Given the description of an element on the screen output the (x, y) to click on. 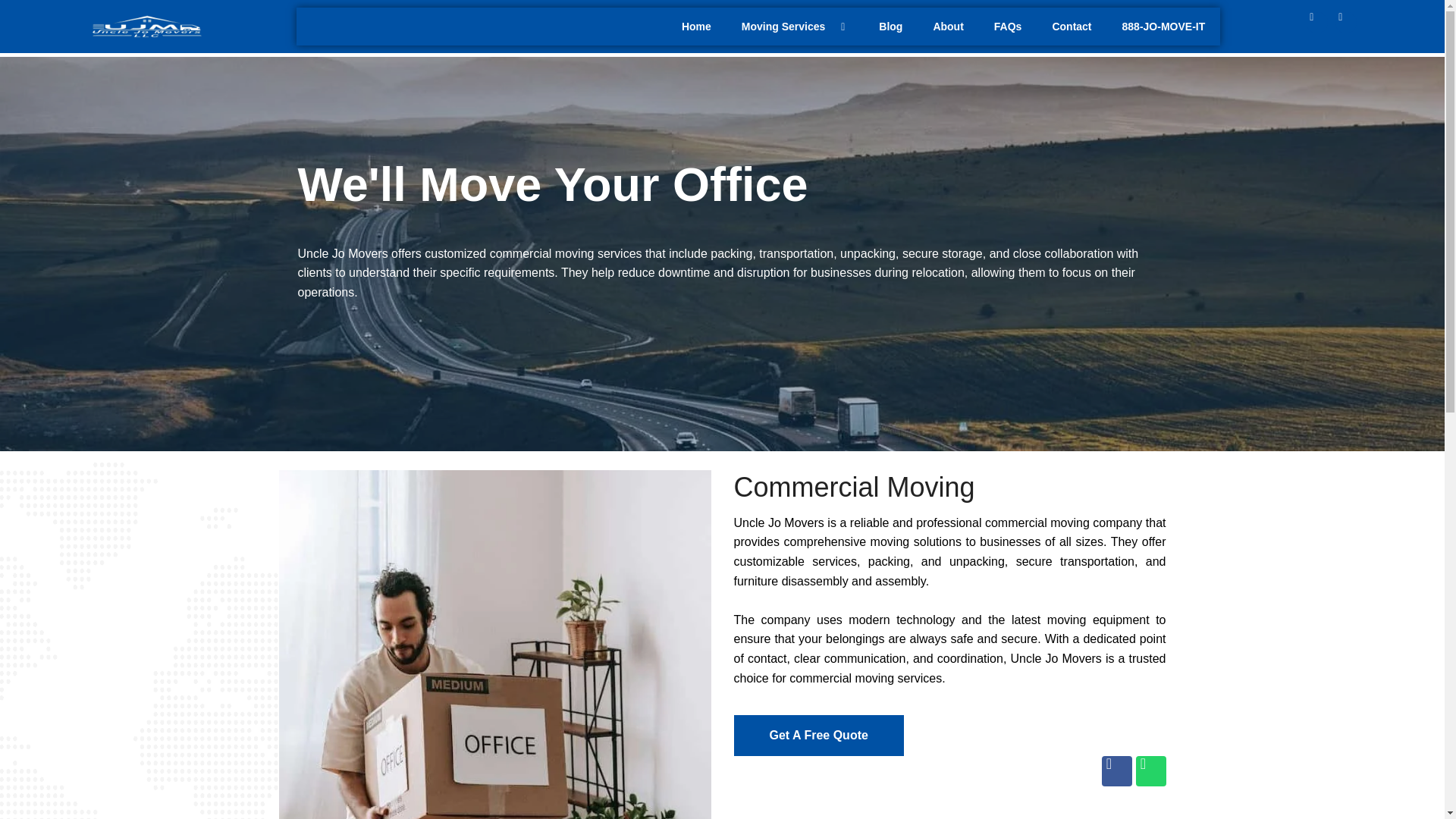
Get A Free Quote (818, 745)
FAQs (1007, 26)
Contact (1071, 26)
Facebook (1115, 770)
Whatsapp (1345, 22)
Blog (890, 26)
Moving Services (795, 26)
Facebook (1316, 22)
About (947, 26)
888-JO-MOVE-IT (1163, 26)
Home (696, 26)
Whatsapp (1150, 770)
